Given the description of an element on the screen output the (x, y) to click on. 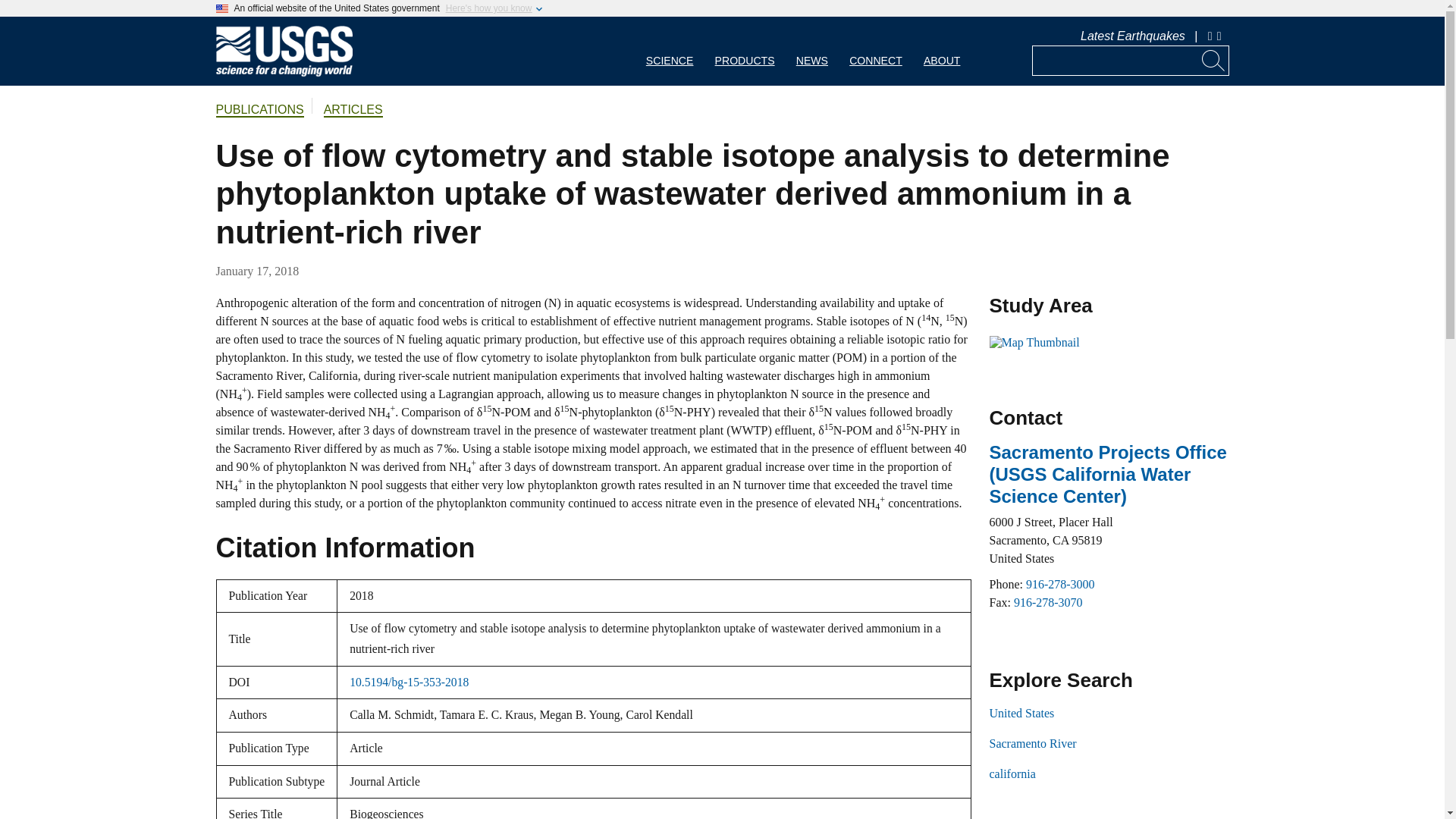
ARTICLES (352, 110)
Home (283, 72)
ABOUT (941, 50)
CONNECT (875, 50)
PRODUCTS (745, 50)
PUBLICATIONS (258, 110)
SCIENCE (669, 50)
Share Social Media (1220, 36)
NEWS (812, 50)
Latest Earthquakes (1132, 35)
